Given the description of an element on the screen output the (x, y) to click on. 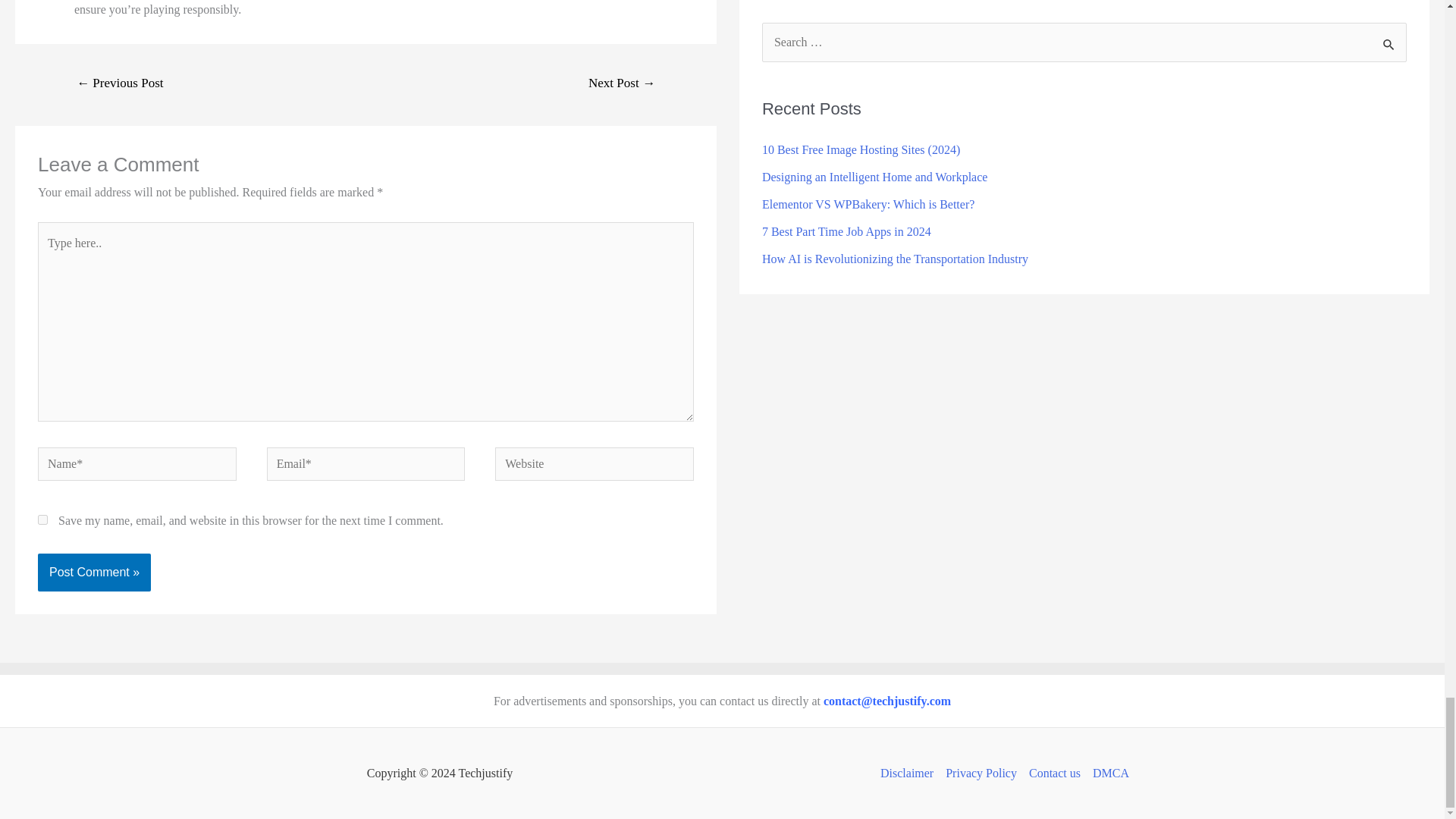
yes (42, 519)
